Given the description of an element on the screen output the (x, y) to click on. 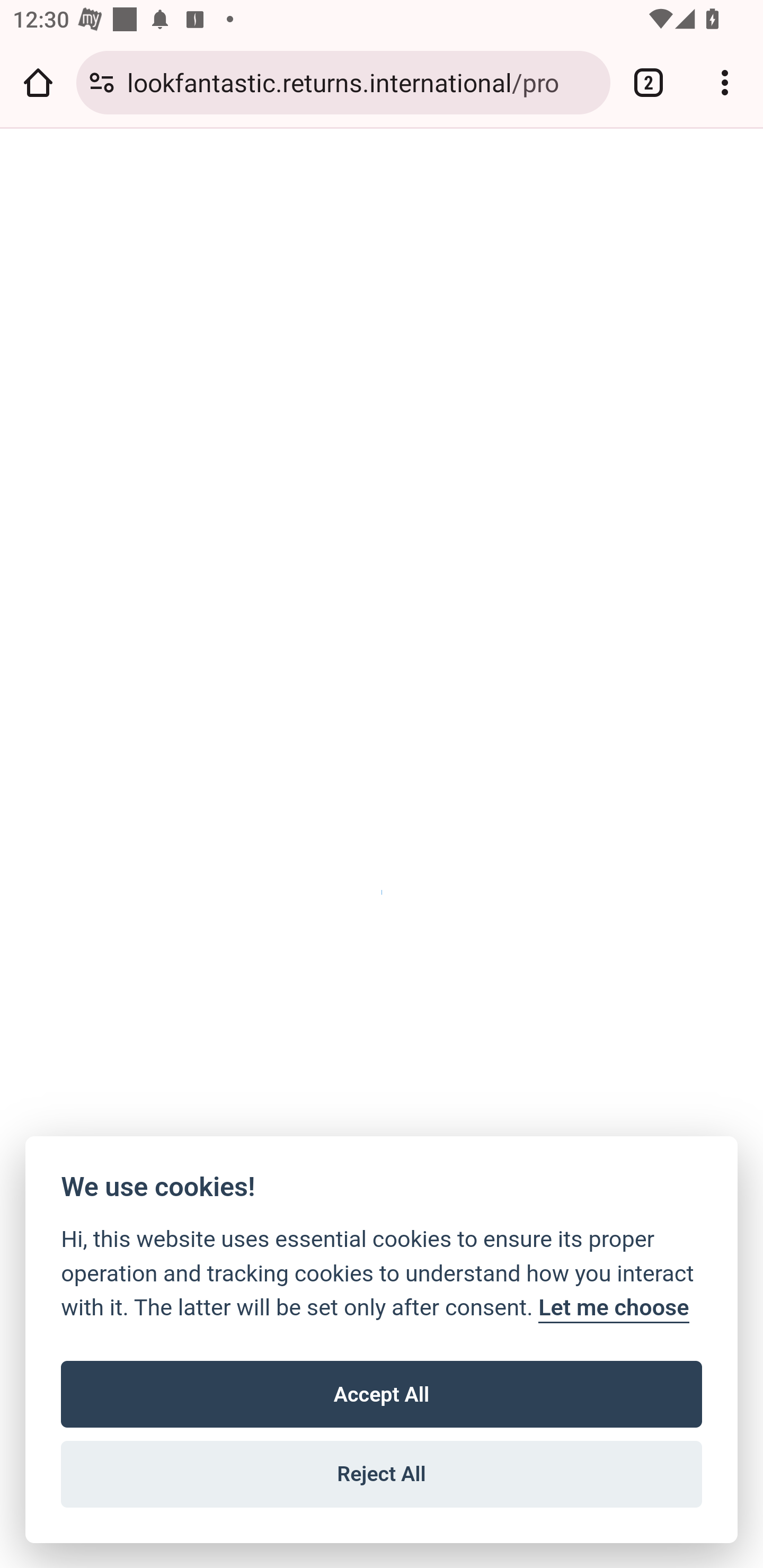
Open the home page (38, 82)
Connection is secure (101, 82)
Switch or close tabs (648, 82)
Customize and control Google Chrome (724, 82)
lookfantastic.returns.international/pro (362, 82)
